Given the description of an element on the screen output the (x, y) to click on. 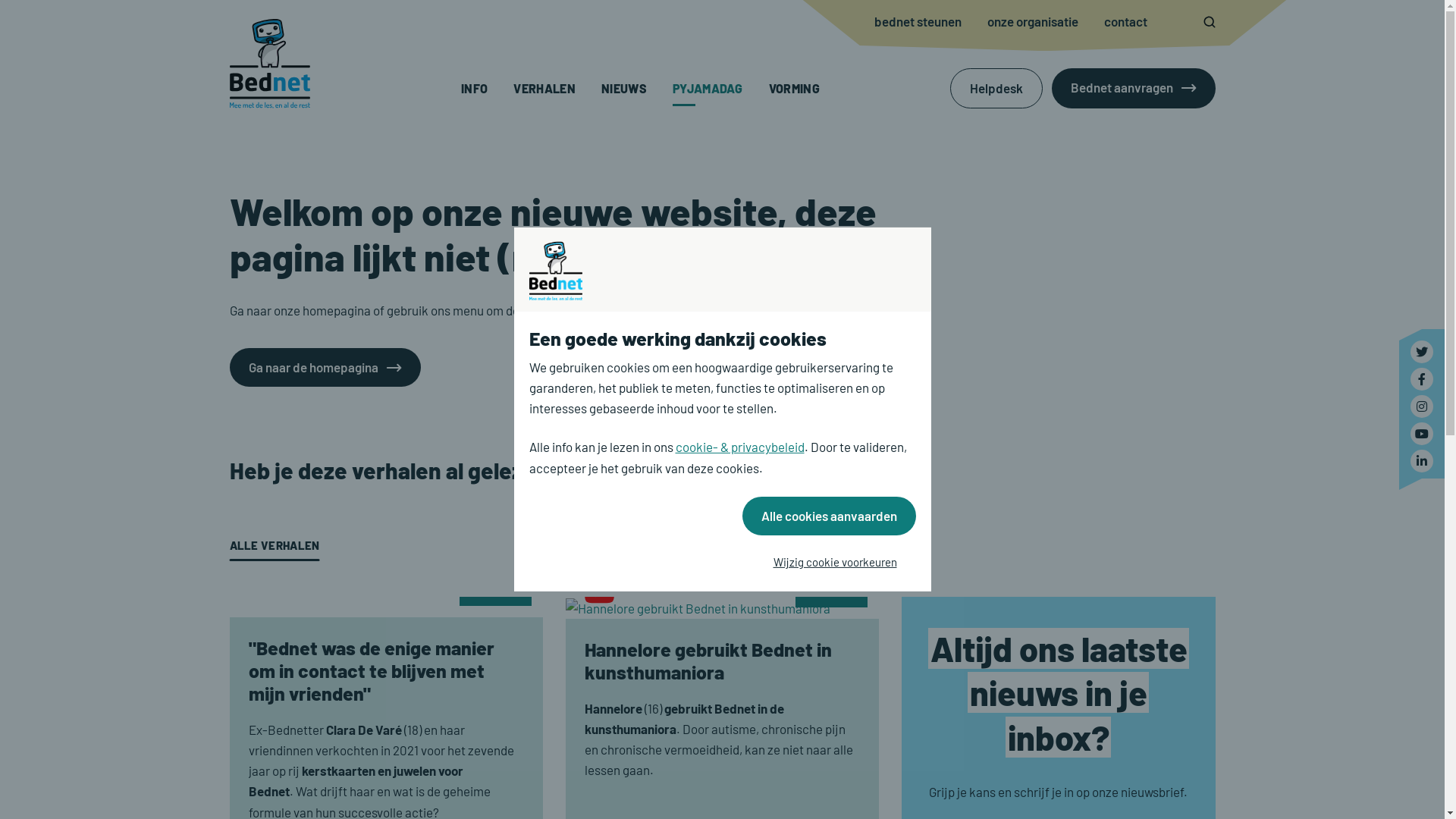
cookie- & privacybeleid Element type: text (738, 446)
Bednet Element type: hover (1421, 406)
VERHALEN Element type: text (544, 88)
Bednet Element type: hover (1421, 351)
Bednet Element type: hover (1421, 460)
Helpdesk Element type: text (996, 88)
NIEUWS Element type: text (623, 88)
Bednet aanvragen Element type: text (1132, 88)
Bednet Element type: hover (1421, 433)
Bednet Element type: text (269, 63)
INFO Element type: text (474, 88)
VORMING Element type: text (793, 88)
PYJAMADAG Element type: text (707, 88)
Ga naar de homepagina Element type: text (324, 367)
Wijzig cookie voorkeuren Element type: text (834, 562)
Bednet Element type: hover (1421, 378)
ALLE VERHALEN Element type: text (274, 545)
onze organisatie Element type: text (1032, 21)
bednet steunen Element type: text (916, 21)
contact Element type: text (1125, 21)
Alle cookies aanvaarden Element type: text (828, 515)
